Given the description of an element on the screen output the (x, y) to click on. 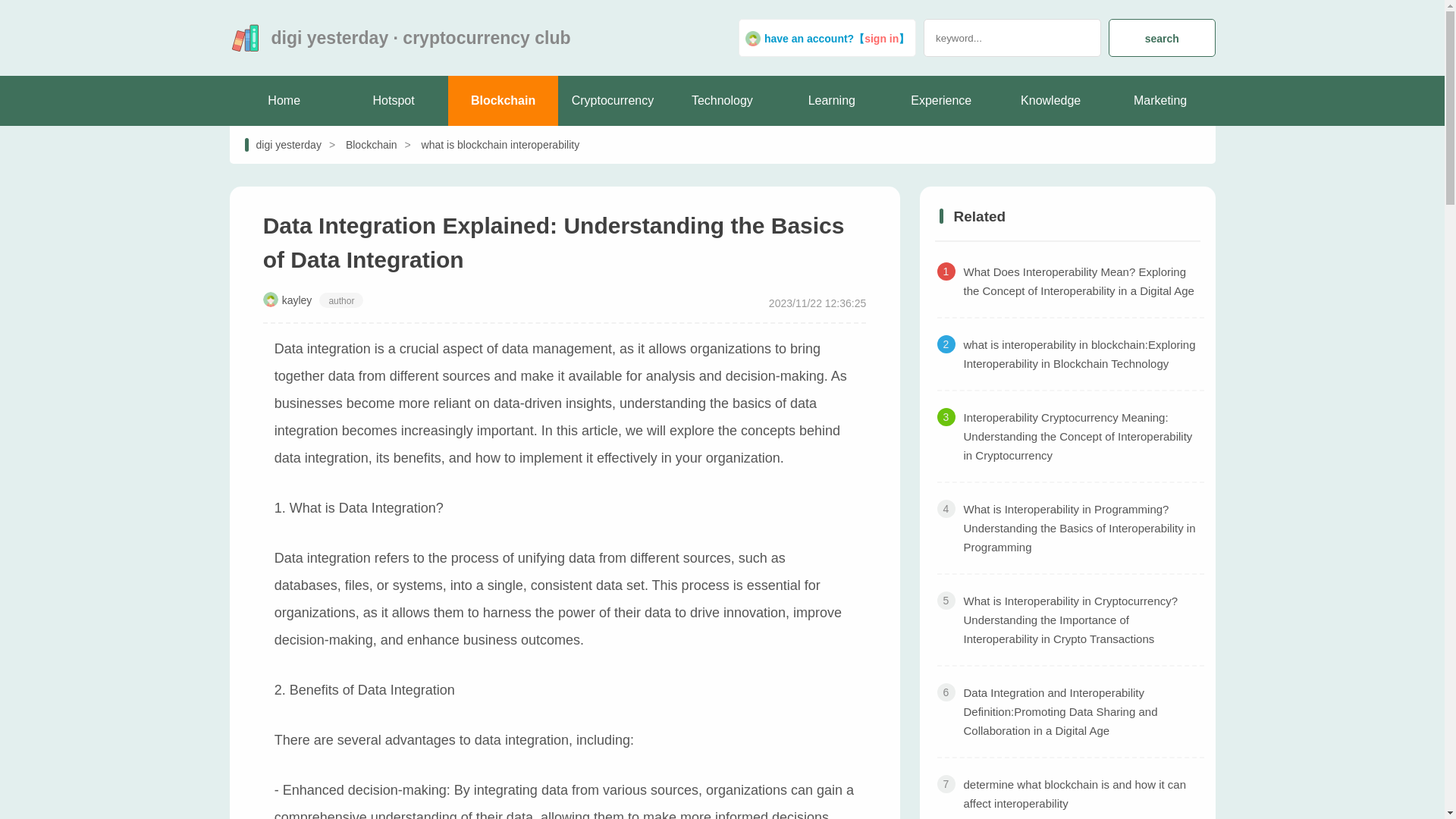
Technology (721, 101)
what is blockchain interoperability (488, 144)
Hotspot (393, 101)
Marketing (1159, 101)
digi yesterday (249, 37)
Technology (721, 101)
what is blockchain interoperability (488, 144)
Blockchain (502, 101)
Knowledge (1050, 101)
